Given the description of an element on the screen output the (x, y) to click on. 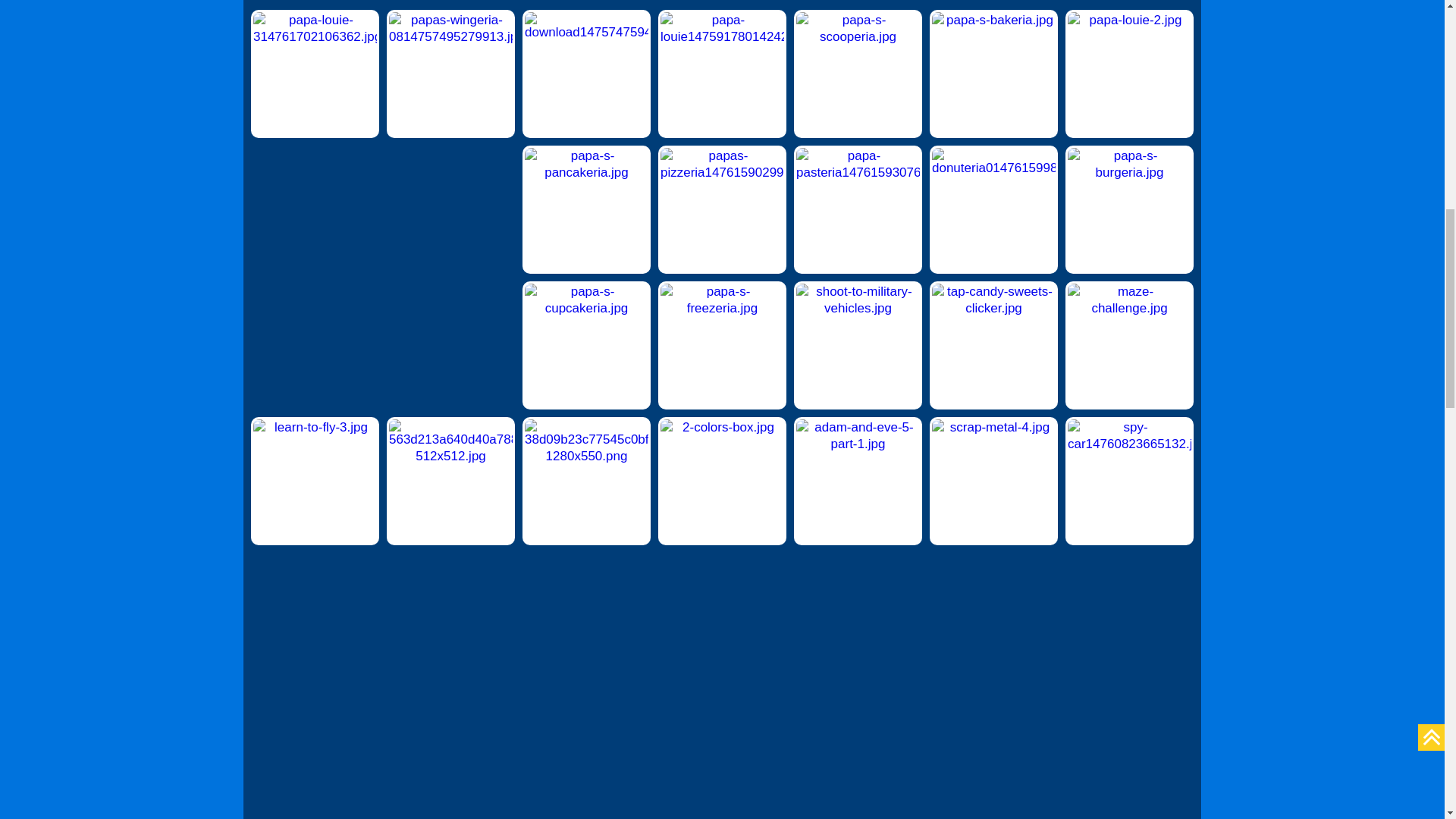
Papa's Wingeria (451, 73)
Papa Louie 3 (314, 73)
Papa Louie (722, 73)
Papa's Cheeseria (586, 73)
Papa's Scooperia (857, 73)
